Given the description of an element on the screen output the (x, y) to click on. 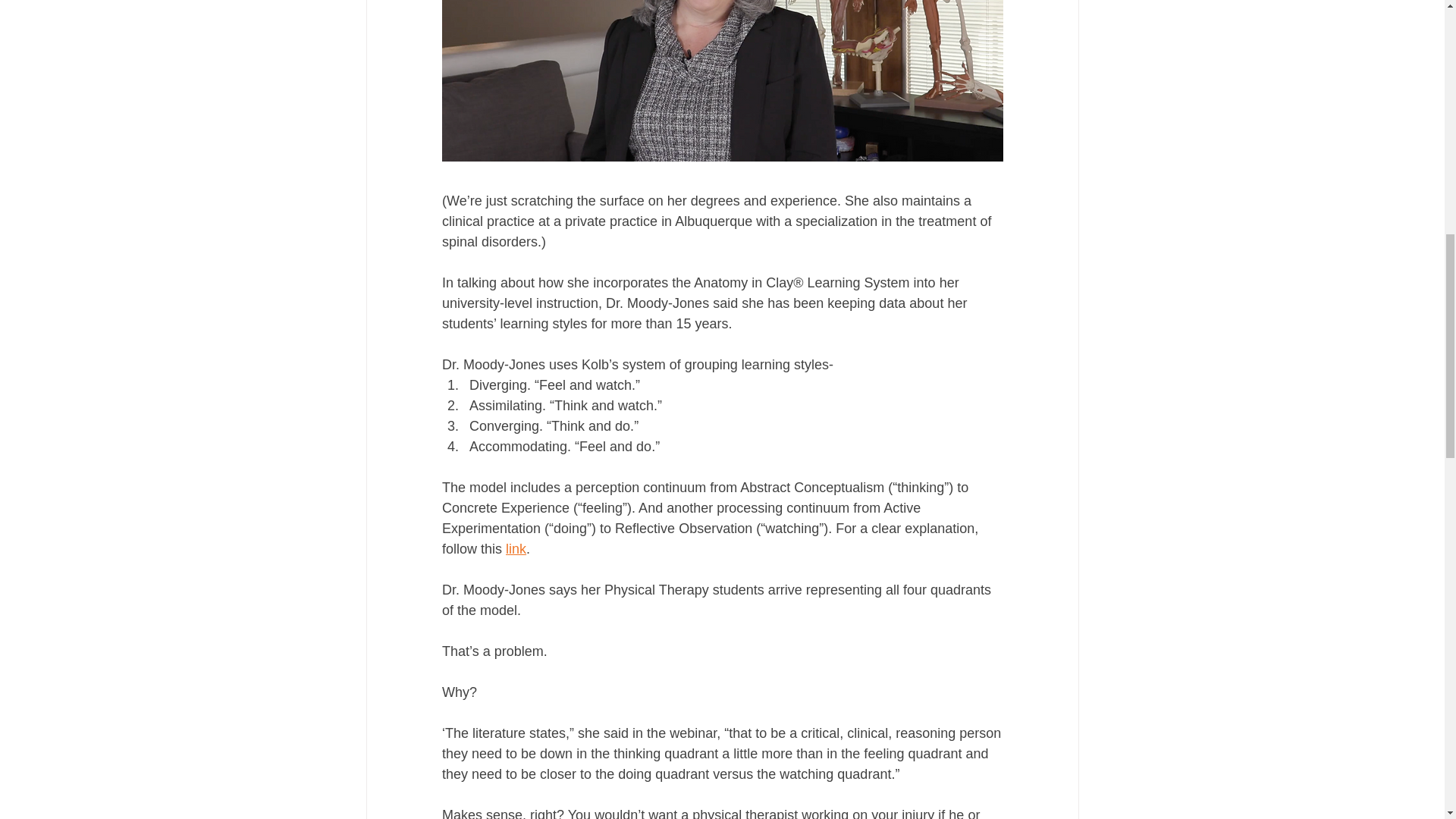
link (515, 548)
